Given the description of an element on the screen output the (x, y) to click on. 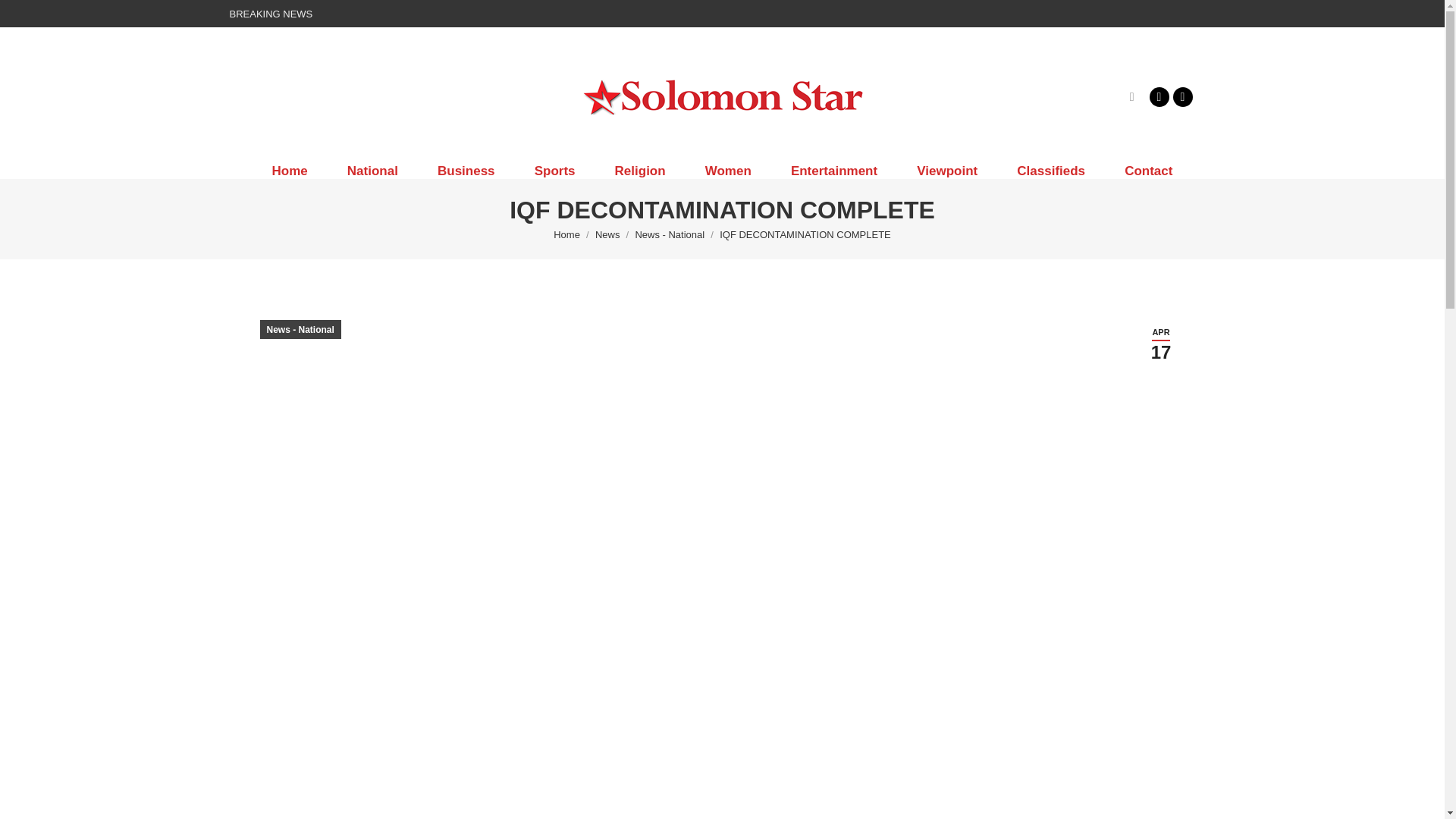
Business (466, 170)
Go! (24, 17)
Entertainment (833, 170)
Facebook page opens in new window (1159, 96)
Home (566, 234)
Classifieds (1051, 170)
News (607, 234)
Sports (555, 170)
Facebook page opens in new window (1159, 96)
News - National (669, 234)
11:12 am (1161, 343)
X page opens in new window (1182, 96)
X page opens in new window (1182, 96)
Viewpoint (946, 170)
Women (728, 170)
